Given the description of an element on the screen output the (x, y) to click on. 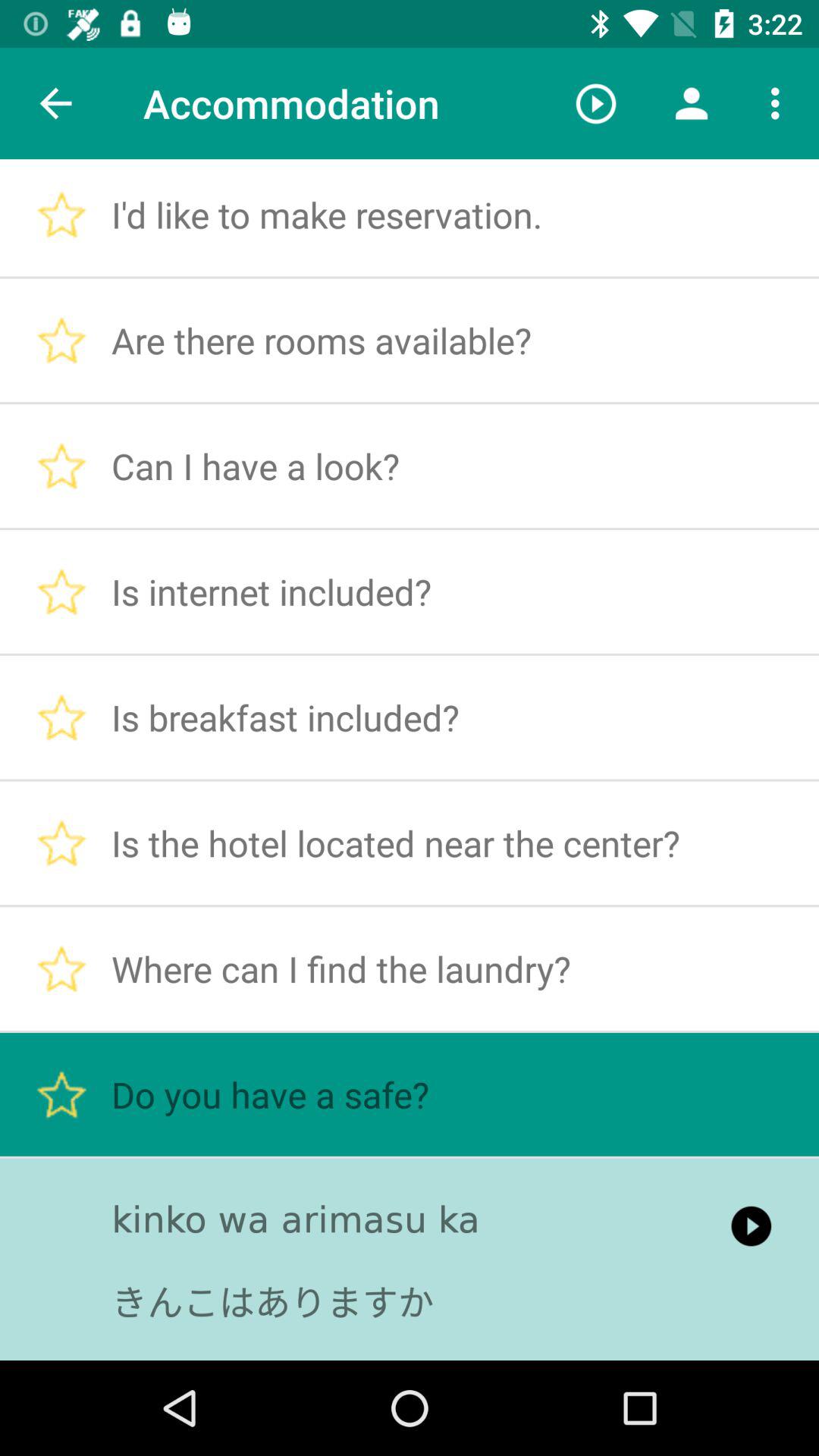
choose the icon to the left of the accommodation icon (55, 103)
